Given the description of an element on the screen output the (x, y) to click on. 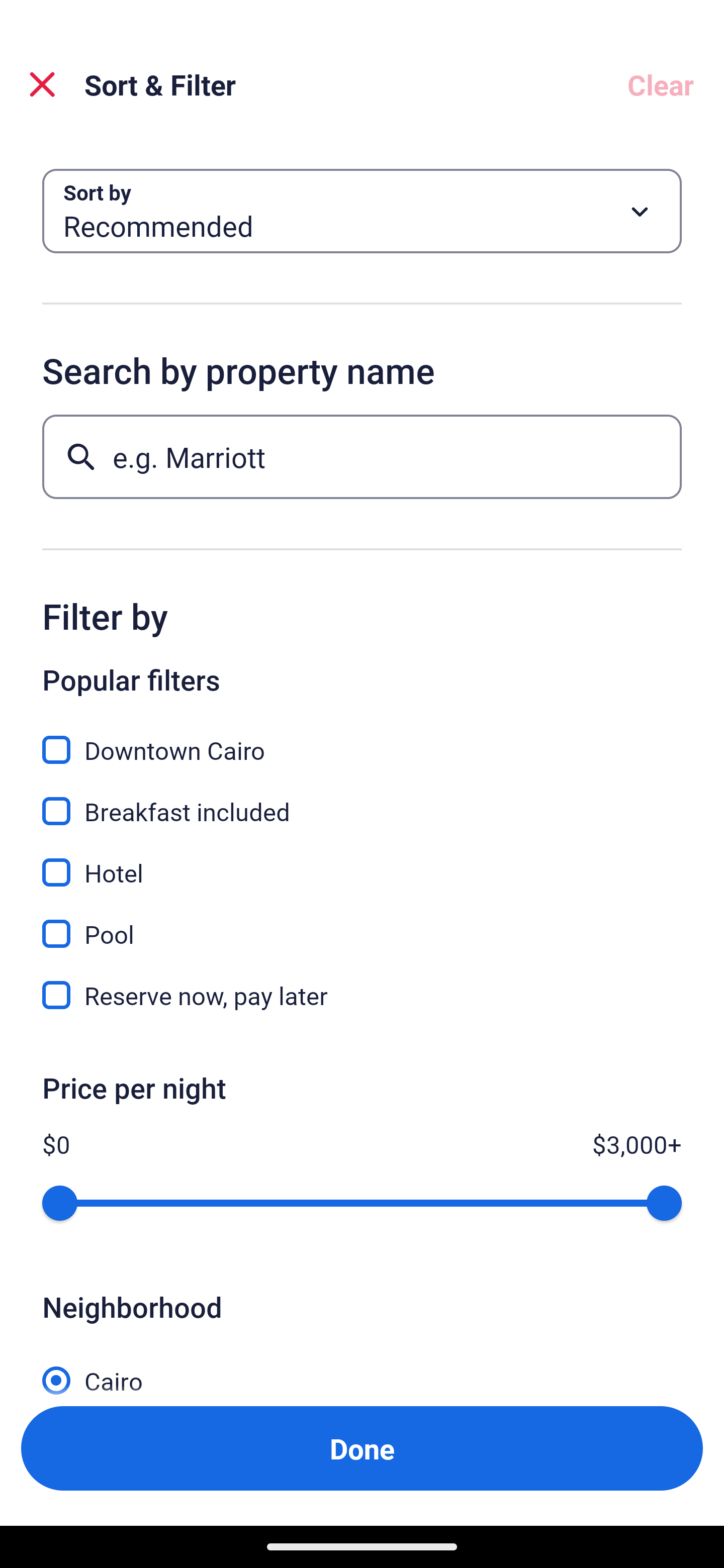
Close Sort and Filter (42, 84)
Clear (660, 84)
Sort by Button Recommended (361, 211)
e.g. Marriott Button (361, 455)
Downtown Cairo, Downtown Cairo (361, 738)
Breakfast included, Breakfast included (361, 800)
Hotel, Hotel (361, 861)
Pool, Pool (361, 922)
Reserve now, pay later, Reserve now, pay later (361, 995)
Apply and close Sort and Filter Done (361, 1448)
